Given the description of an element on the screen output the (x, y) to click on. 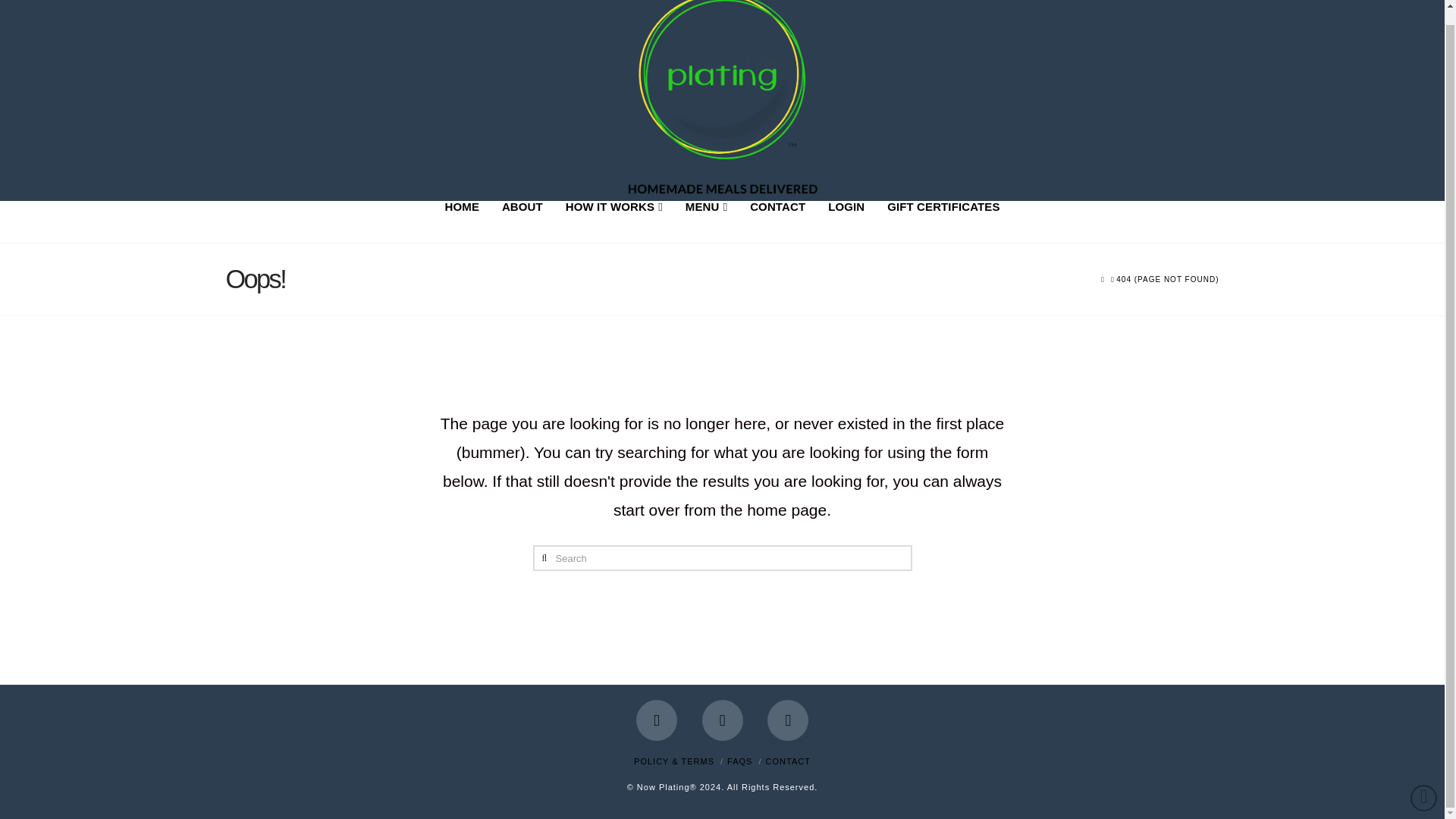
ABOUT (522, 221)
MENU (706, 221)
GIFT CERTIFICATES (943, 221)
You Are Here (1167, 279)
HOME (461, 221)
HOW IT WORKS (614, 221)
Back to Top (1423, 783)
Facebook (656, 720)
CONTACT (787, 760)
FAQS (739, 760)
LOGIN (846, 221)
Twitter (721, 720)
Instagram (787, 720)
CONTACT (777, 221)
